Given the description of an element on the screen output the (x, y) to click on. 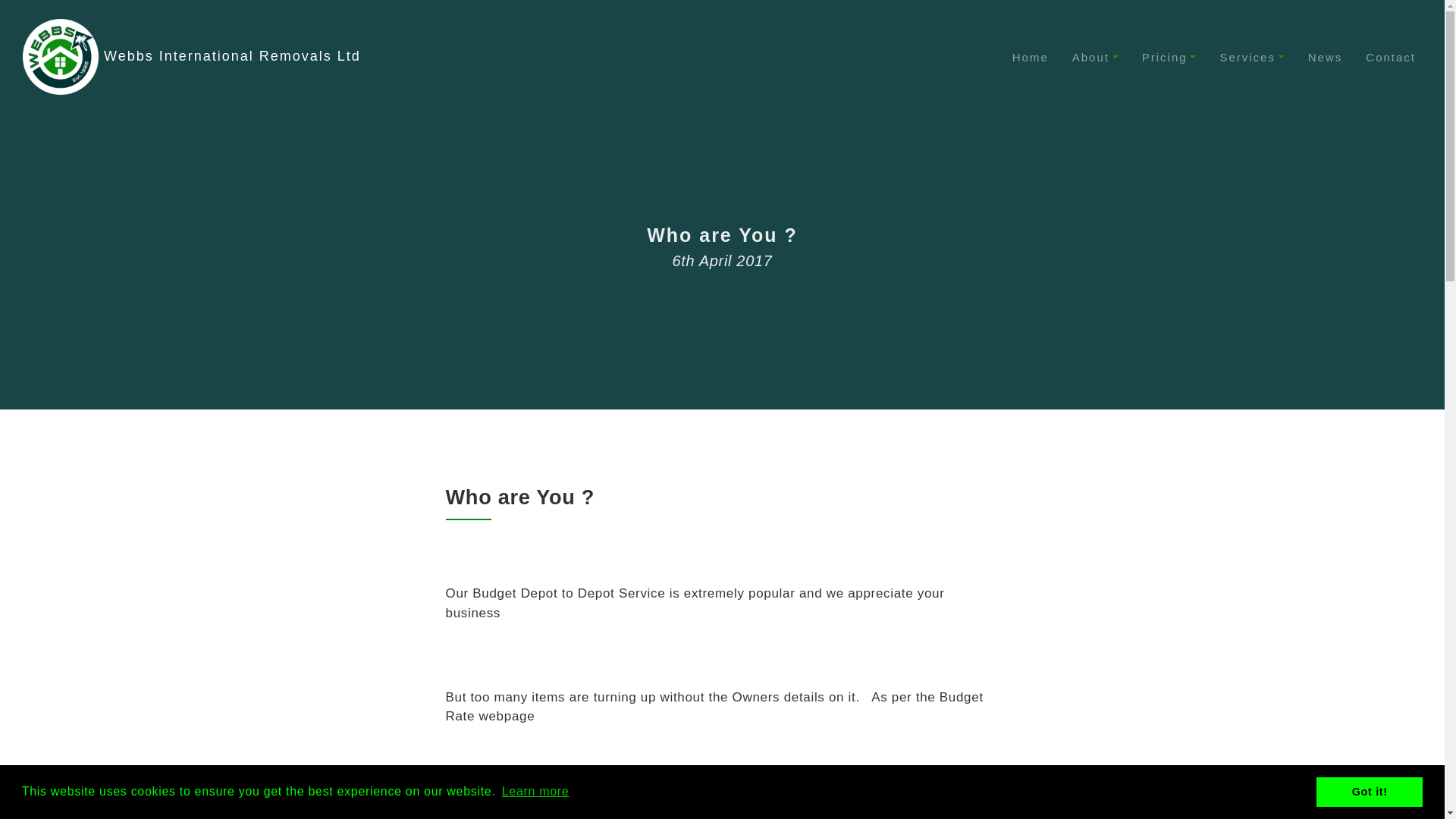
Got it! (1369, 791)
News (1325, 56)
Services (1251, 56)
Home (1030, 56)
Contact (1390, 56)
Webbs International Removals Ltd (192, 56)
Pricing (1168, 56)
About (1094, 56)
Learn more (535, 791)
